Given the description of an element on the screen output the (x, y) to click on. 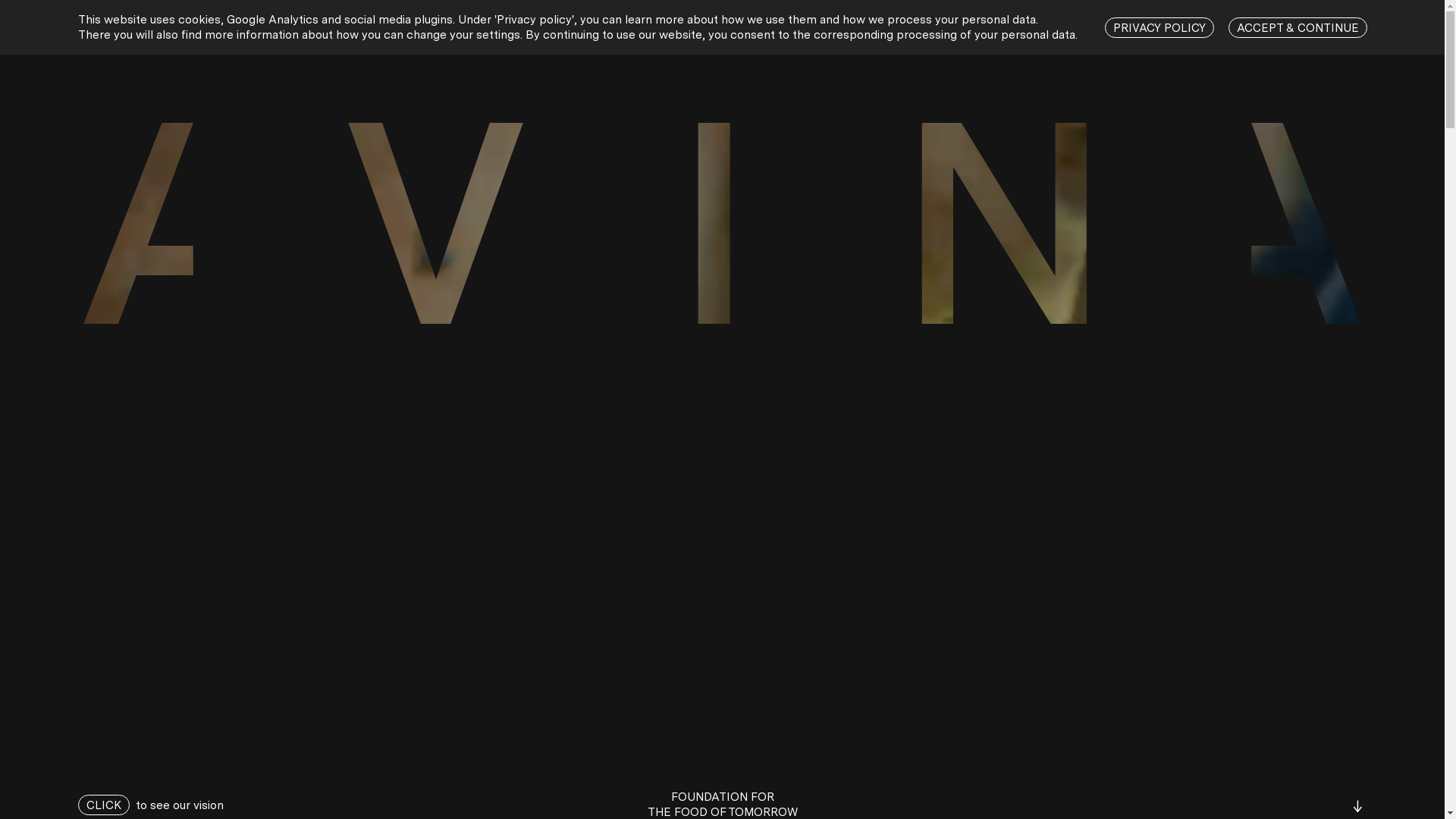
ACCEPT & CONTINUE Element type: text (1297, 26)
CLICK Element type: text (102, 804)
PRIVACY POLICY Element type: text (1158, 26)
